Given the description of an element on the screen output the (x, y) to click on. 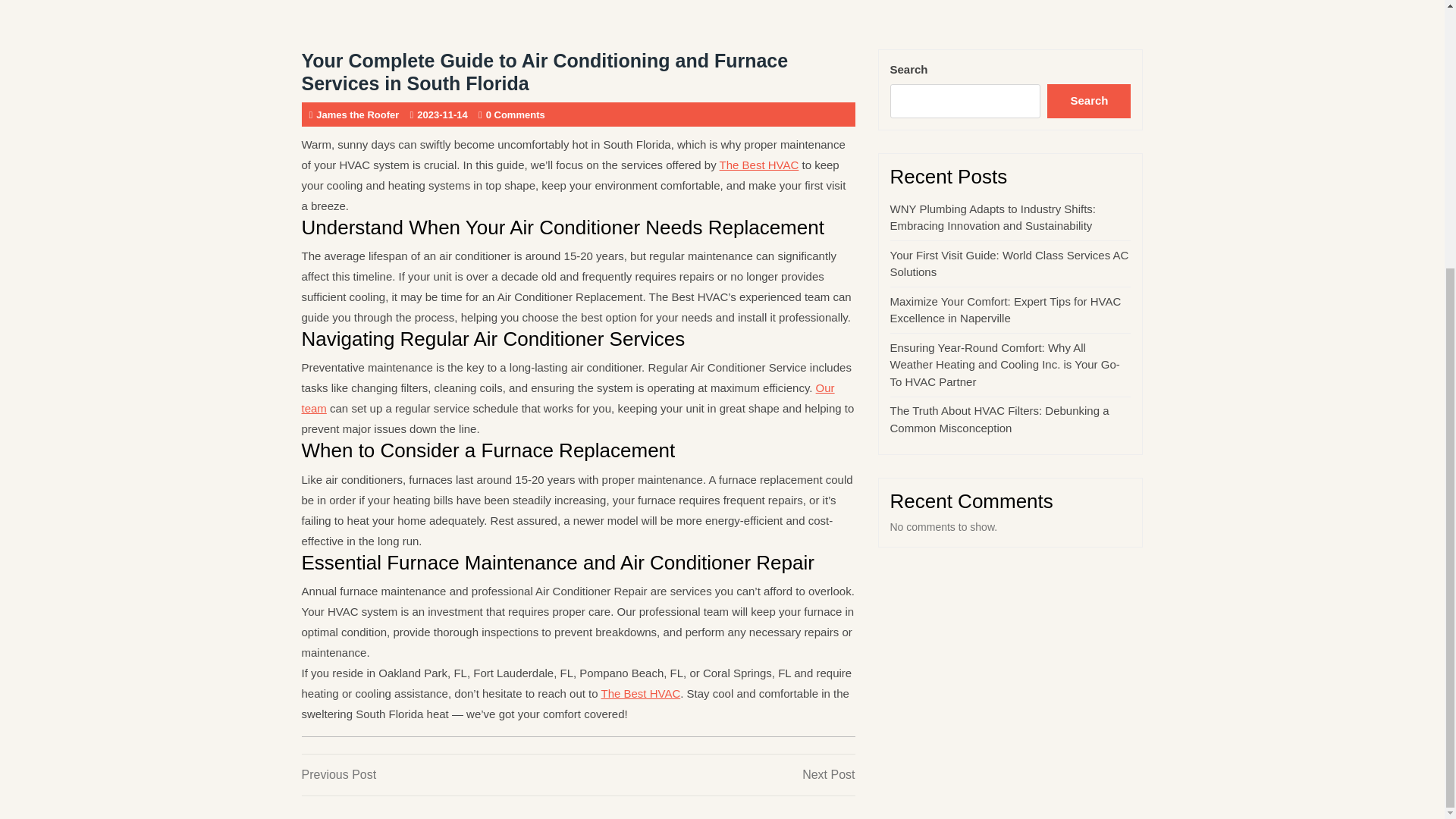
Search (1088, 101)
The Best HVAC (759, 164)
The Best HVAC (439, 774)
Your First Visit Guide: World Class Services AC Solutions (639, 693)
Our team (1009, 263)
